Given the description of an element on the screen output the (x, y) to click on. 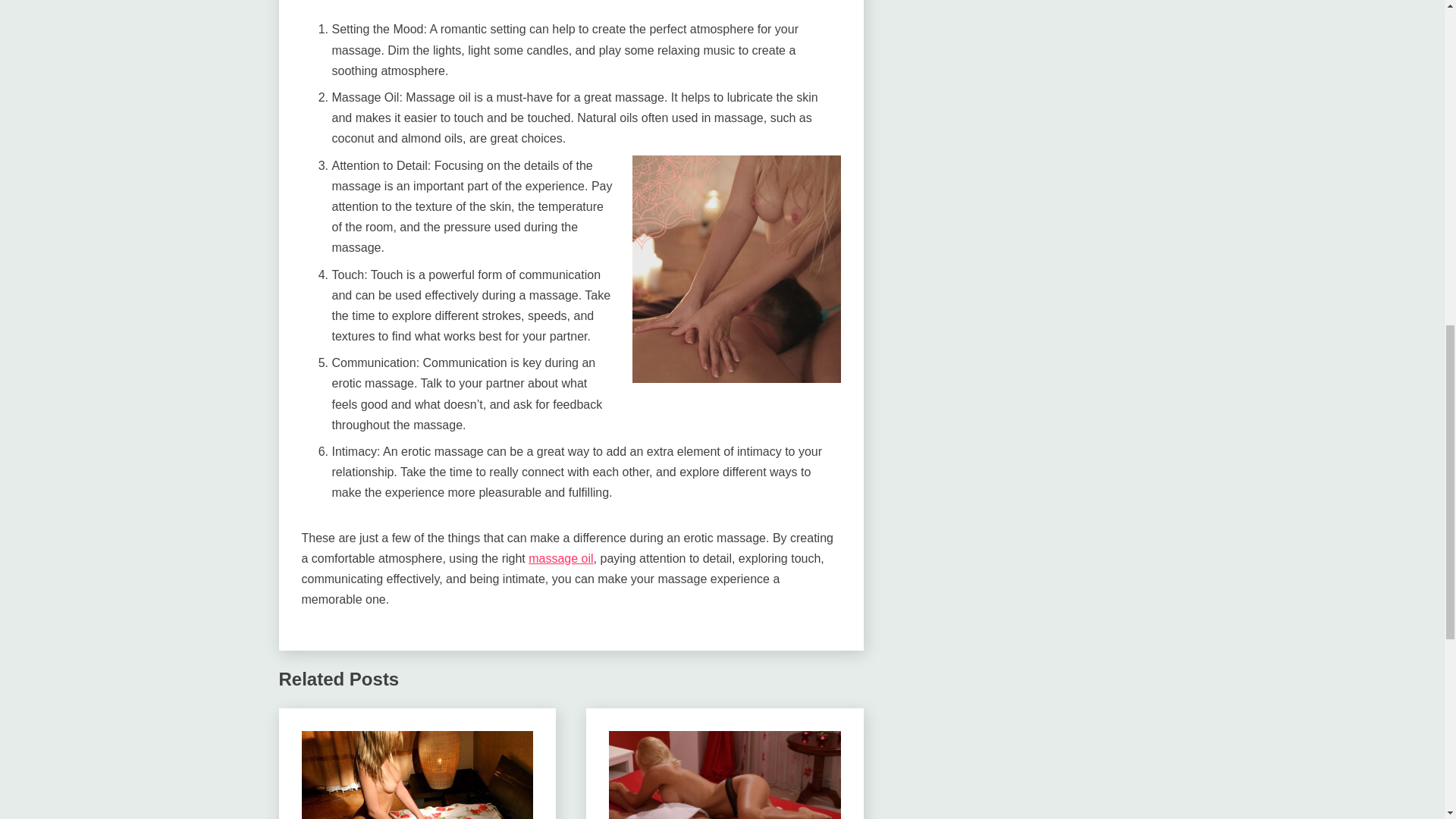
massage oil (560, 558)
